Given the description of an element on the screen output the (x, y) to click on. 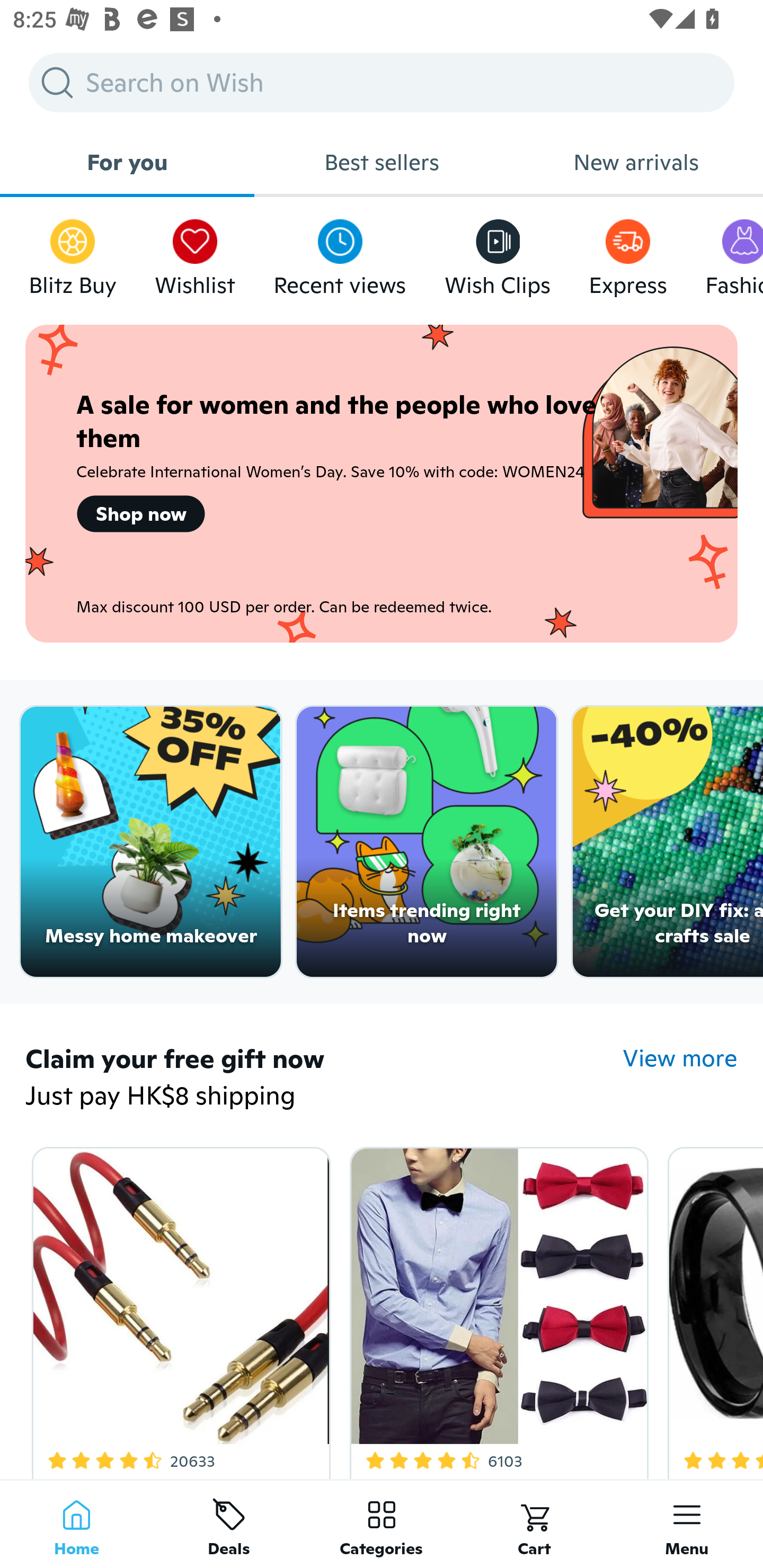
Search on Wish (381, 82)
For you (127, 161)
Best sellers (381, 161)
New arrivals (635, 161)
Blitz Buy (72, 252)
Wishlist (194, 252)
Recent views (339, 252)
Wish Clips (497, 252)
Express (627, 252)
Fashion (734, 252)
Messy home makeover (150, 841)
Items trending right now (426, 841)
Get your DIY fix: arts & crafts sale (668, 841)
Claim your free gift now
Just pay HK$8 shipping (323, 1078)
View more (679, 1058)
4.3 Star Rating 20633 Free (177, 1308)
4.4 Star Rating 6103 Free (495, 1308)
Home (76, 1523)
Deals (228, 1523)
Categories (381, 1523)
Cart (533, 1523)
Menu (686, 1523)
